Given the description of an element on the screen output the (x, y) to click on. 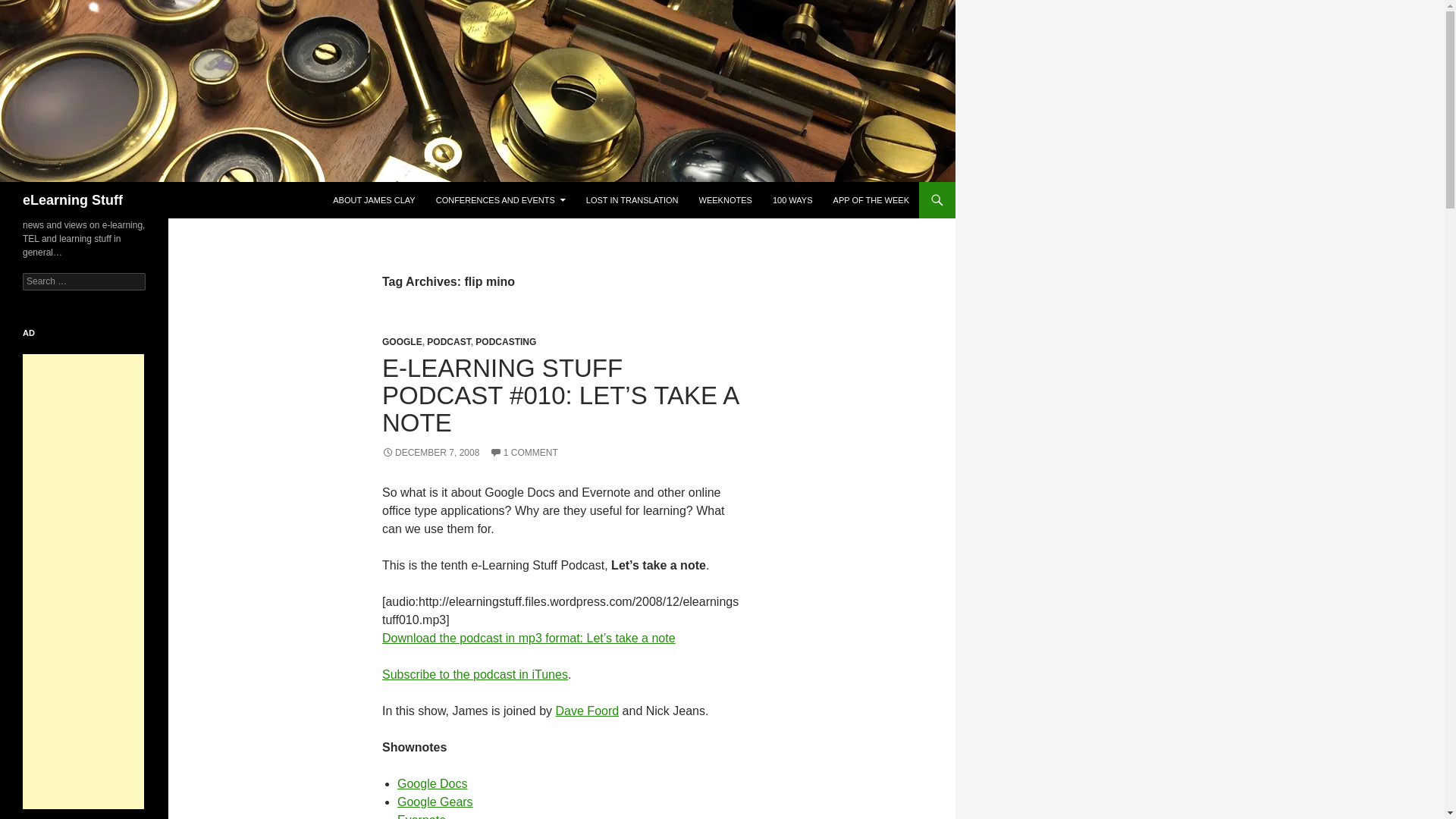
DECEMBER 7, 2008 (430, 452)
Evernote (421, 816)
GOOGLE (401, 341)
Google Gears (435, 801)
ABOUT JAMES CLAY (373, 199)
Google Docs (432, 783)
Dave Foord (588, 710)
eLearning Stuff (72, 199)
100 WAYS (792, 199)
Subscribe to the podcast in iTunes (474, 674)
1 COMMENT (523, 452)
PODCASTING (505, 341)
WEEKNOTES (725, 199)
CONFERENCES AND EVENTS (500, 199)
